Given the description of an element on the screen output the (x, y) to click on. 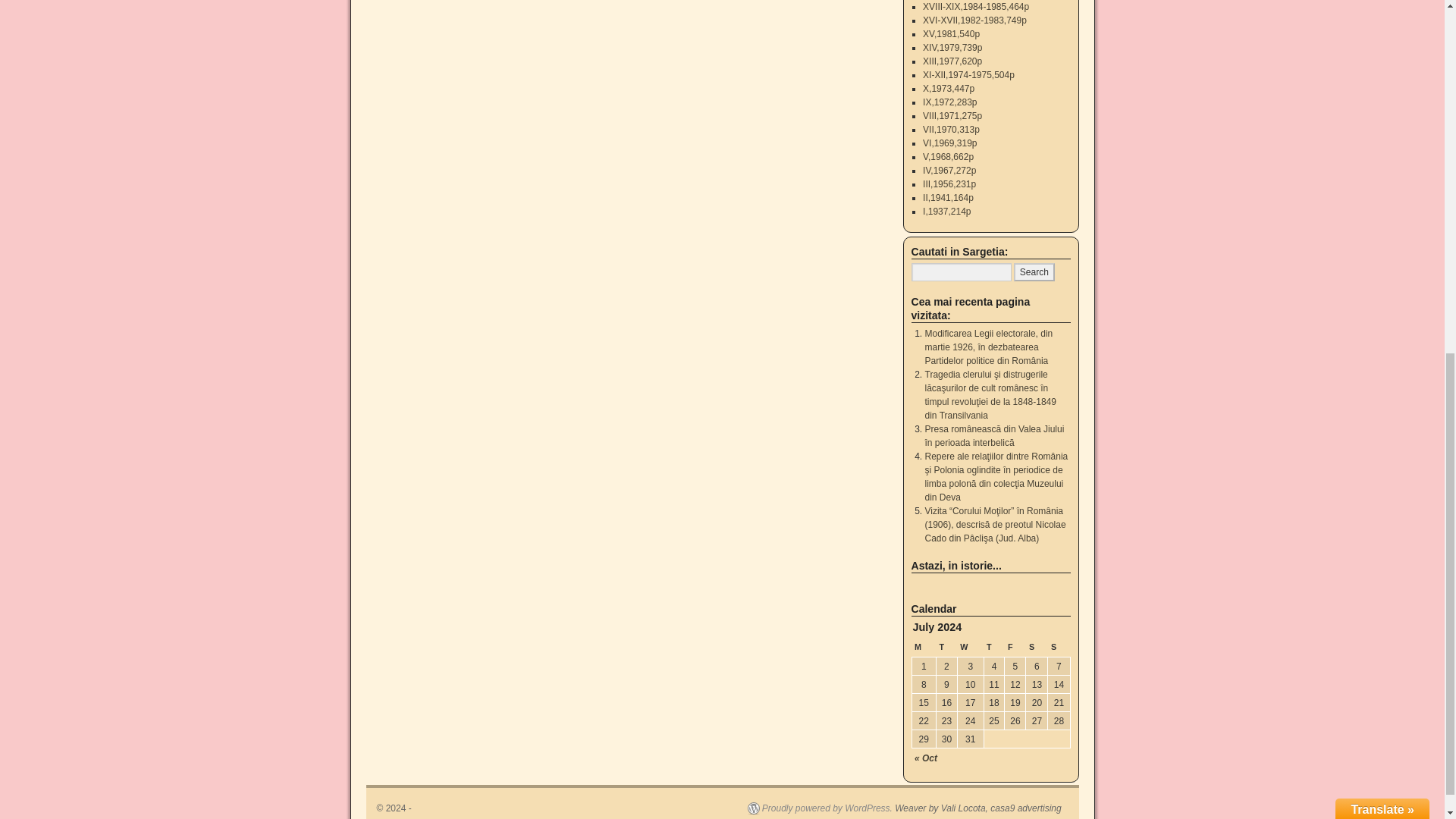
Semantic Personal Publishing Platform (820, 808)
Wednesday (970, 647)
Thursday (994, 647)
XIII,1977,620p (952, 61)
XVI-XVII,1982-1983,749p (974, 20)
XV,1981,540p (951, 33)
XI-XII,1974-1975,504p (968, 74)
Search (1033, 271)
Friday (1015, 647)
XIV,1979,739p (952, 47)
Monday (923, 647)
Saturday (1037, 647)
X,1973,447p (948, 88)
Sunday (1059, 647)
Tuesday (946, 647)
